Given the description of an element on the screen output the (x, y) to click on. 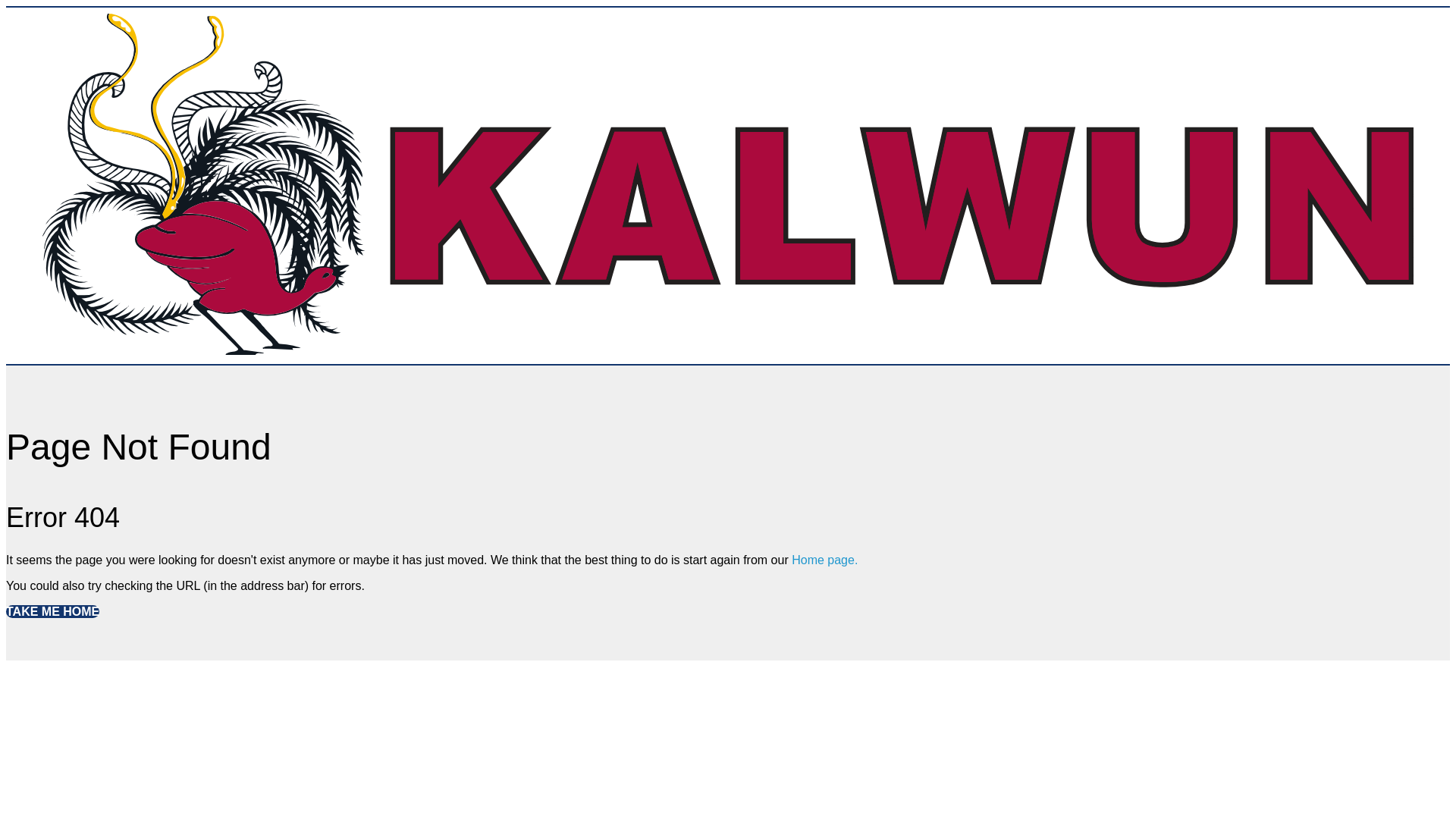
Home page. Element type: text (824, 559)
TAKE ME HOME Element type: text (52, 611)
Go to Kalwun Development Corporation home page Element type: hover (727, 350)
